Given the description of an element on the screen output the (x, y) to click on. 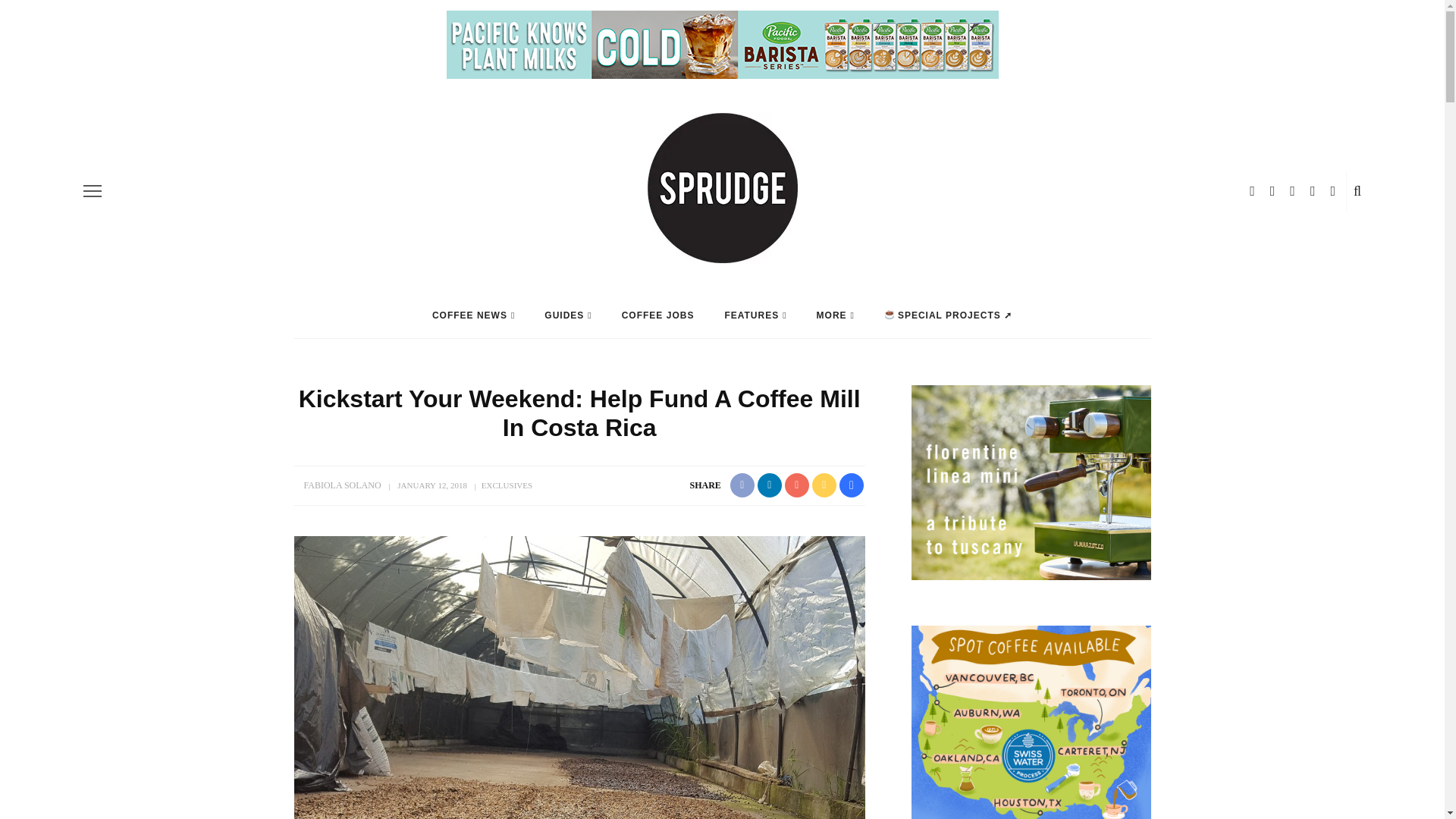
off canvas button (91, 190)
